Given the description of an element on the screen output the (x, y) to click on. 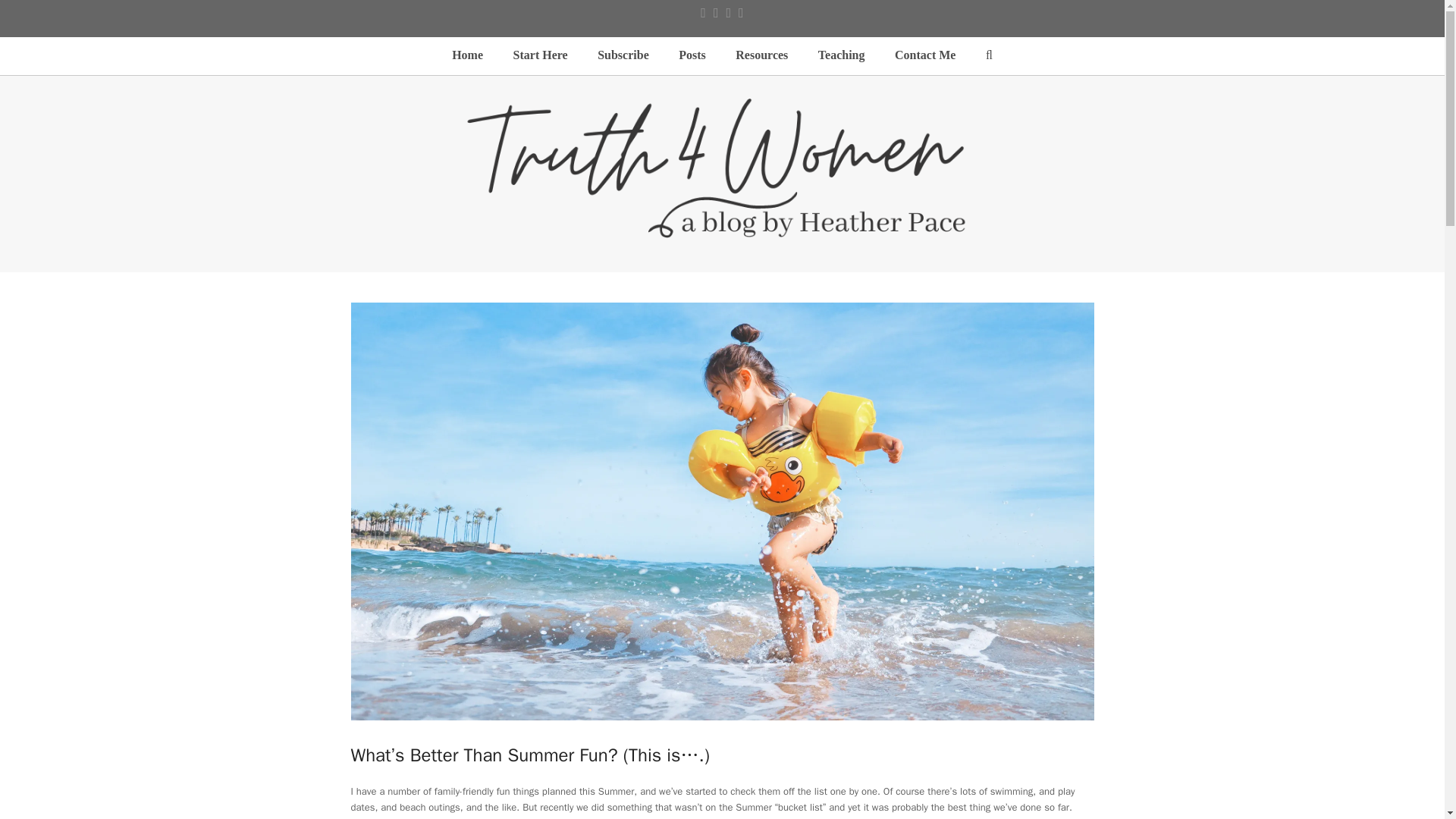
Teaching (841, 55)
Resources (762, 55)
Home (467, 55)
Subscribe (622, 55)
Posts (692, 55)
Contact Me (924, 55)
Start Here (539, 55)
